Given the description of an element on the screen output the (x, y) to click on. 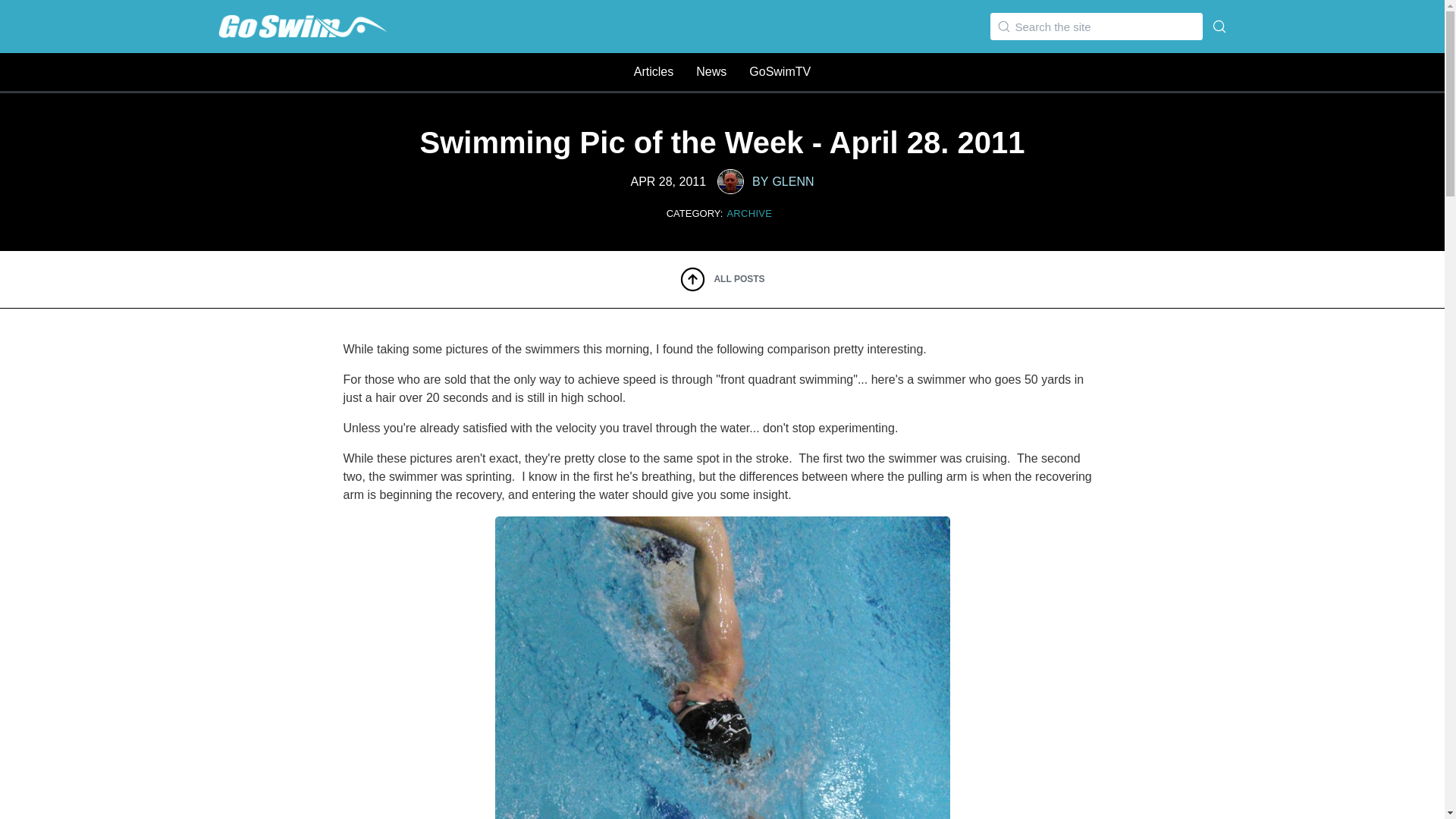
ALL POSTS (721, 279)
Articles (652, 71)
ARCHIVE (748, 214)
Search (30, 14)
News (761, 181)
GoSwimTV (710, 71)
